Given the description of an element on the screen output the (x, y) to click on. 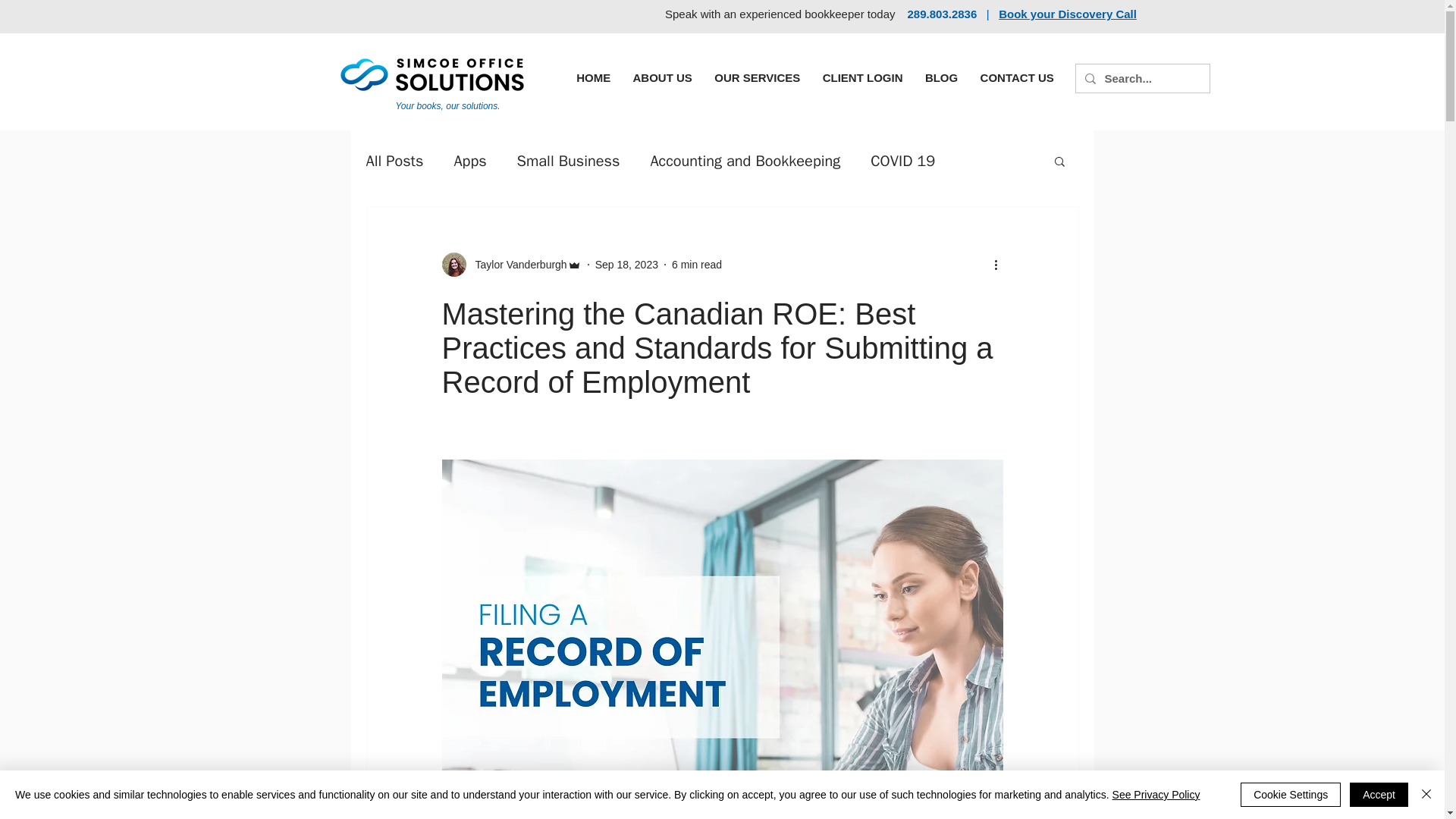
Book your Discovery Call (1067, 13)
CLIENT LOGIN (862, 77)
Taylor Vanderburgh (510, 264)
ABOUT US (662, 77)
HOME (593, 77)
6 min read (696, 263)
Taylor Vanderburgh (515, 263)
Accounting and Bookkeeping (744, 159)
Apps (469, 159)
CONTACT US (1017, 77)
COVID 19 (902, 159)
BLOG (941, 77)
Sep 18, 2023 (626, 263)
All Posts (394, 159)
Small Business (568, 159)
